Given the description of an element on the screen output the (x, y) to click on. 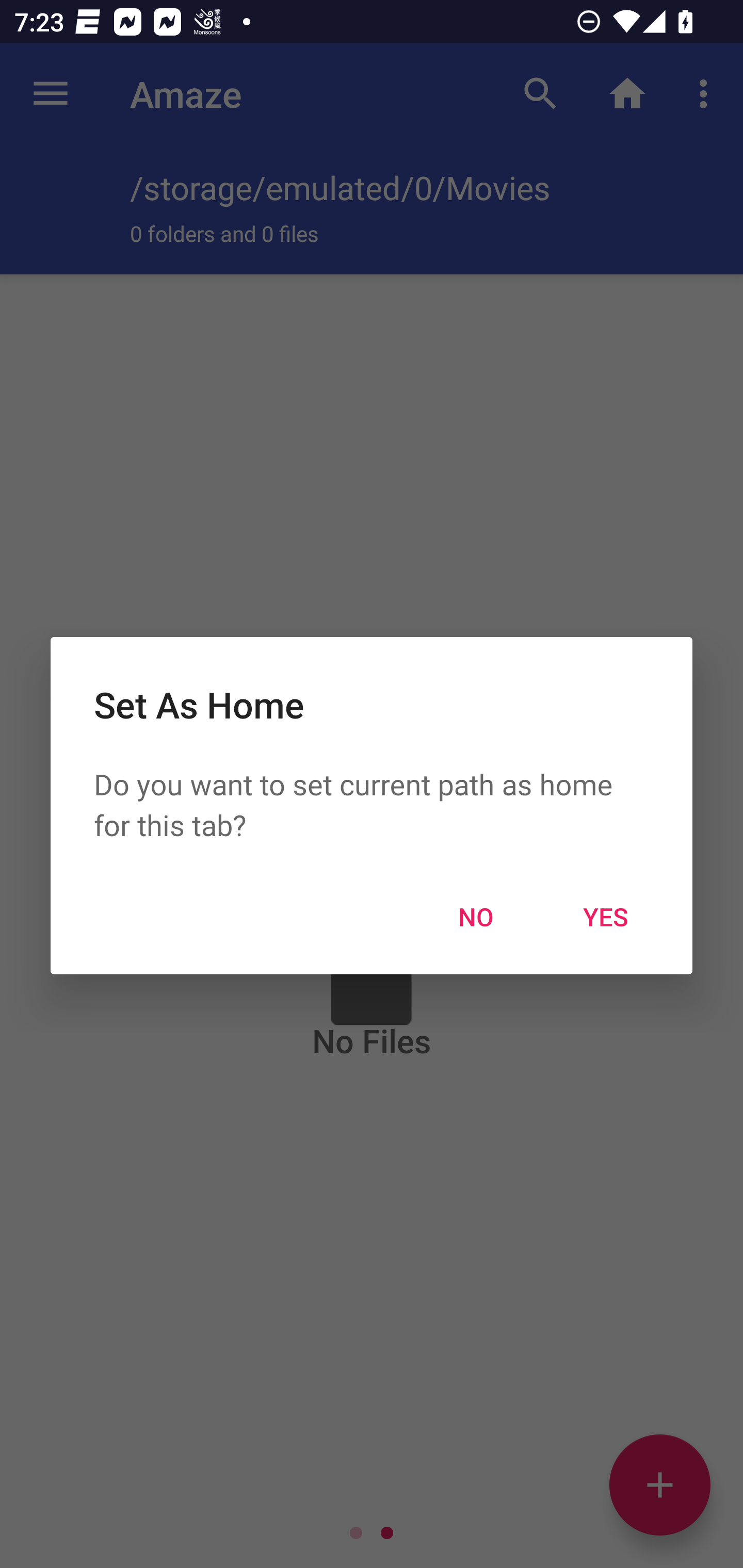
NO (475, 916)
YES (605, 916)
